Given the description of an element on the screen output the (x, y) to click on. 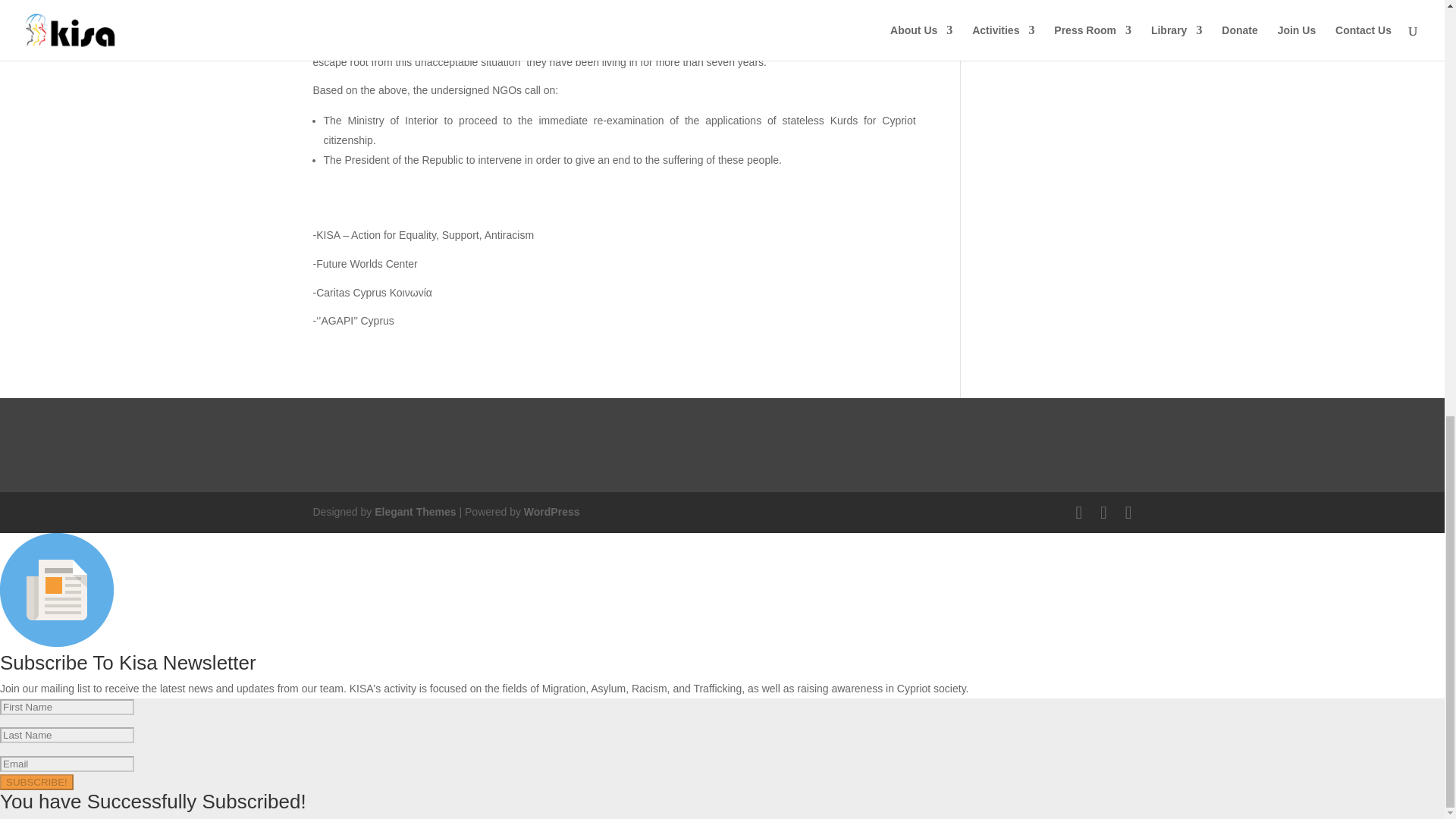
Premium WordPress Themes (414, 511)
